Given the description of an element on the screen output the (x, y) to click on. 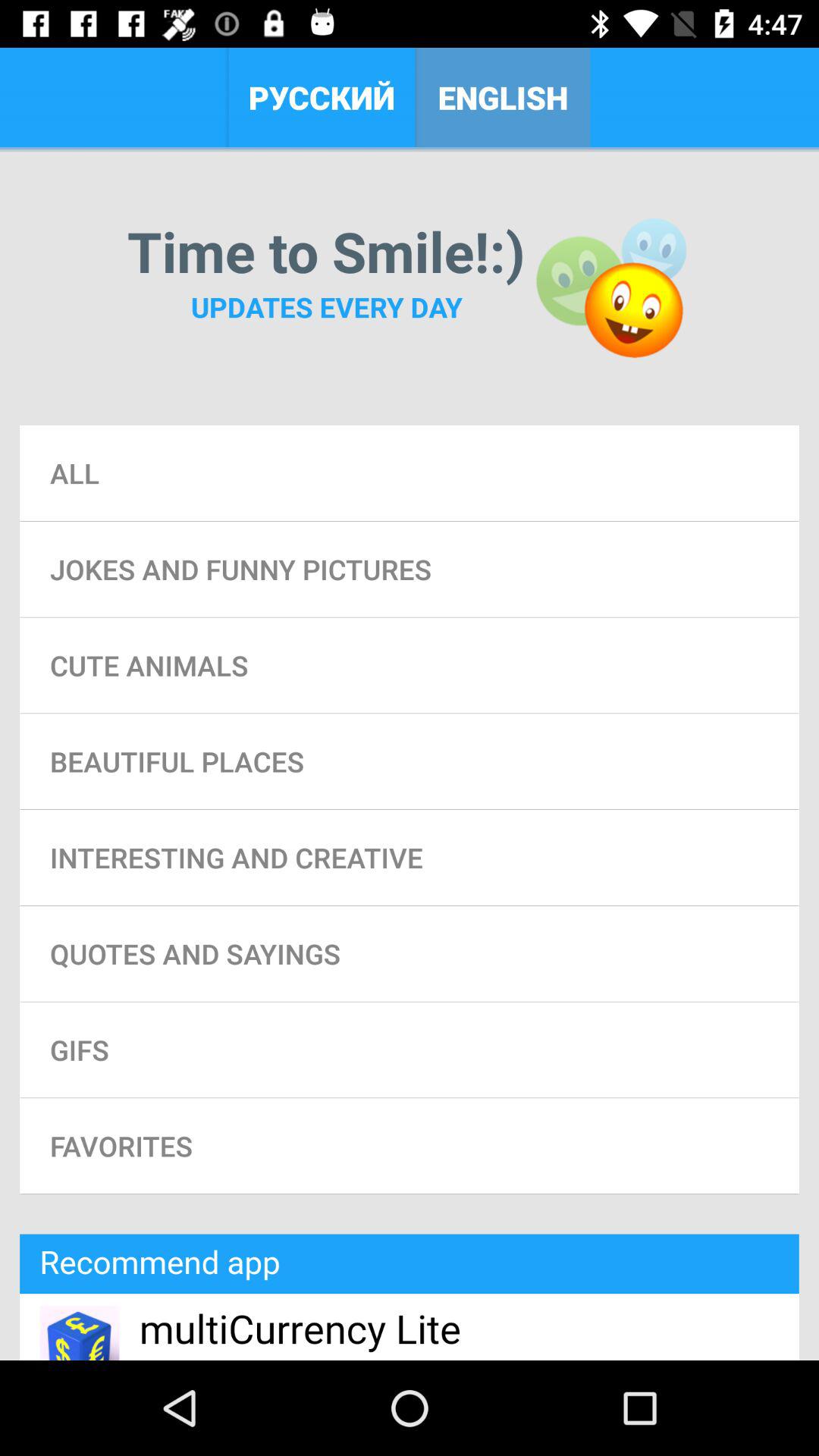
turn on item above jokes and funny item (409, 472)
